Given the description of an element on the screen output the (x, y) to click on. 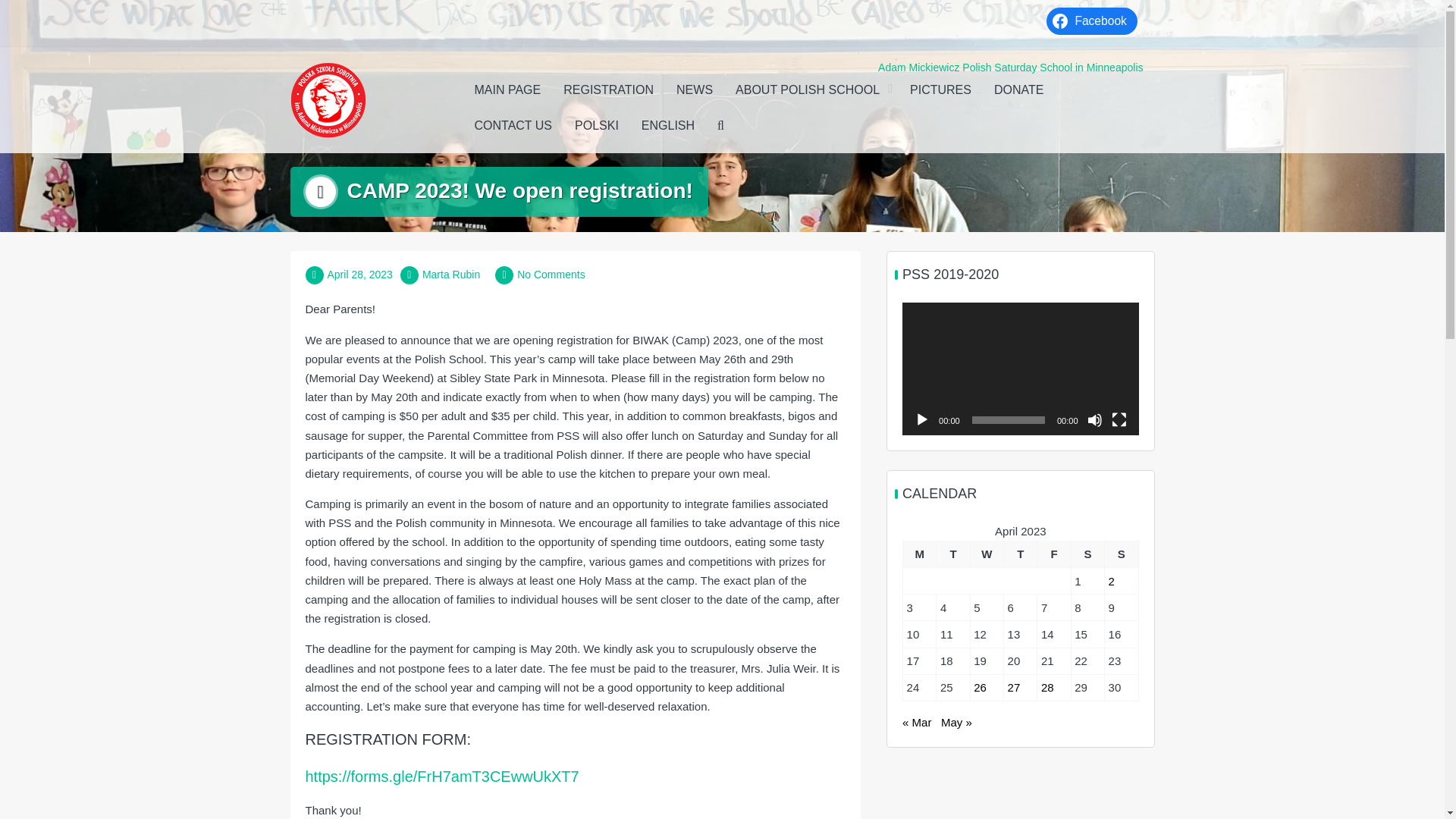
NEWS (694, 90)
PICTURES (940, 90)
ABOUT POLISH SCHOOL (810, 90)
Friday (1053, 553)
27 (1013, 686)
POLSKI (596, 126)
Wednesday (986, 553)
DONATE (1018, 90)
ENGLISH (668, 126)
CONTACT US (513, 126)
